Given the description of an element on the screen output the (x, y) to click on. 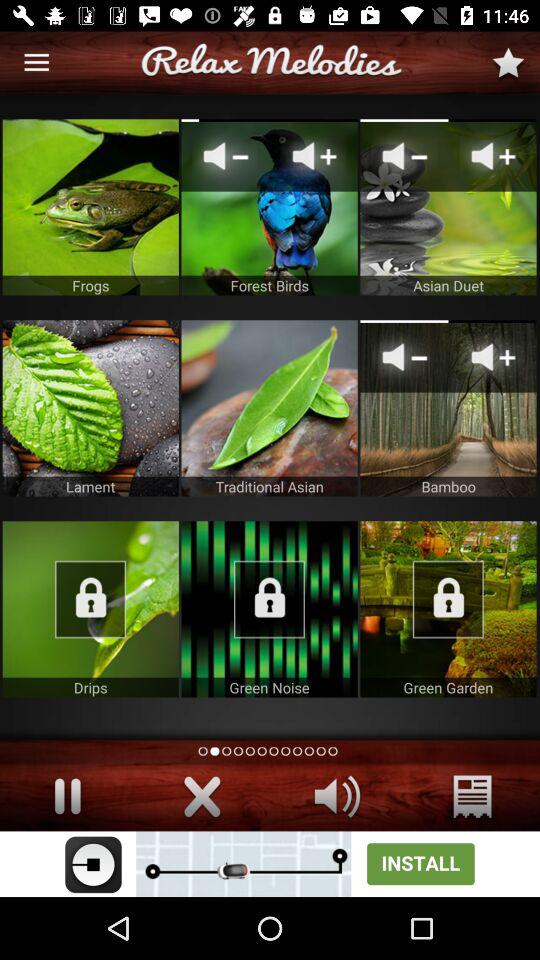
open folder (90, 609)
